Given the description of an element on the screen output the (x, y) to click on. 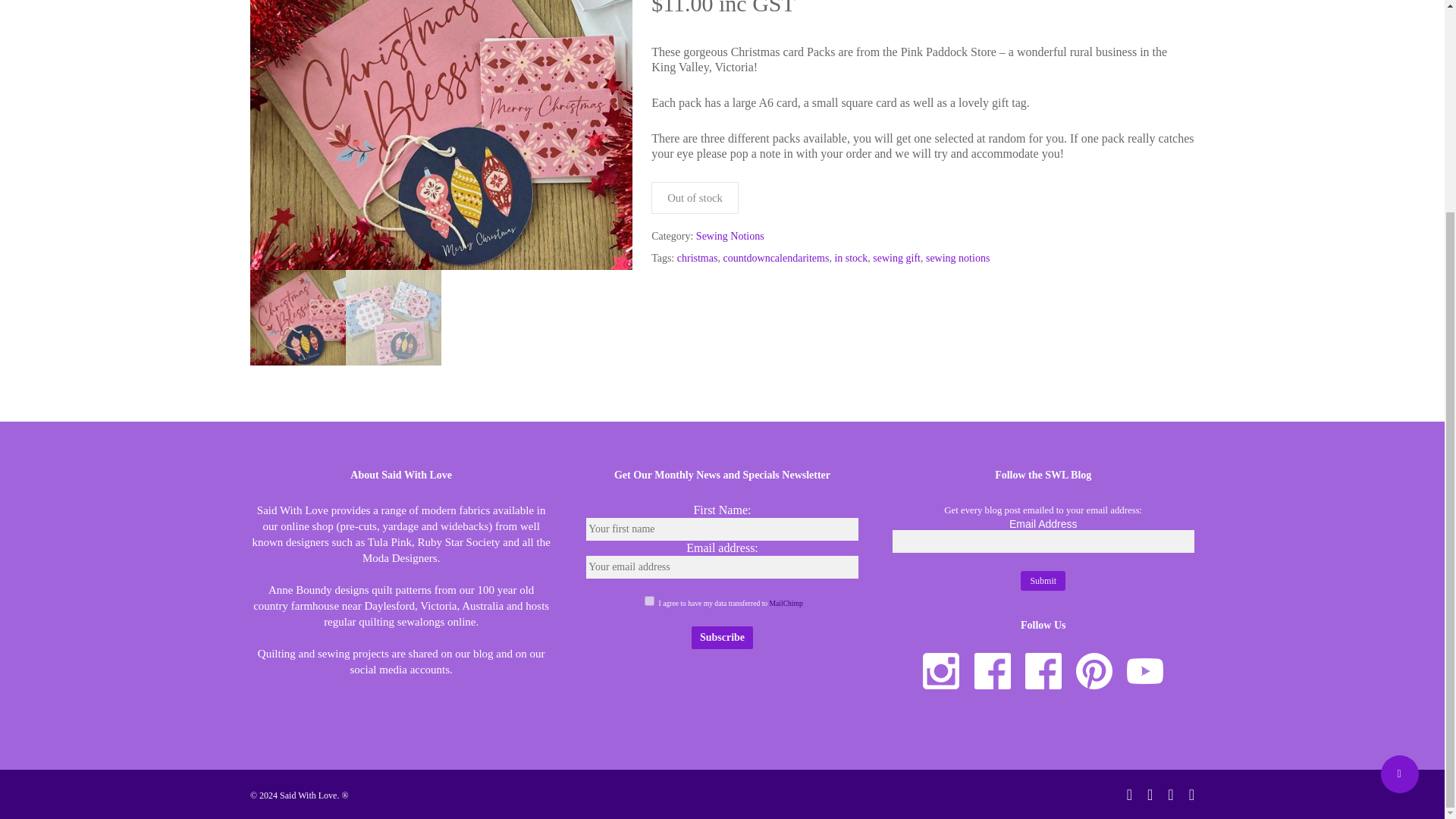
SWL Pinterest (1093, 670)
Said With Love IG (941, 670)
christmascardpack (440, 135)
Subscribe (721, 637)
SWL Sew Along Group (1043, 670)
Submit (1042, 580)
1 (649, 601)
SWL Facebook Page (992, 670)
SWL Youtube (1144, 670)
